Given the description of an element on the screen output the (x, y) to click on. 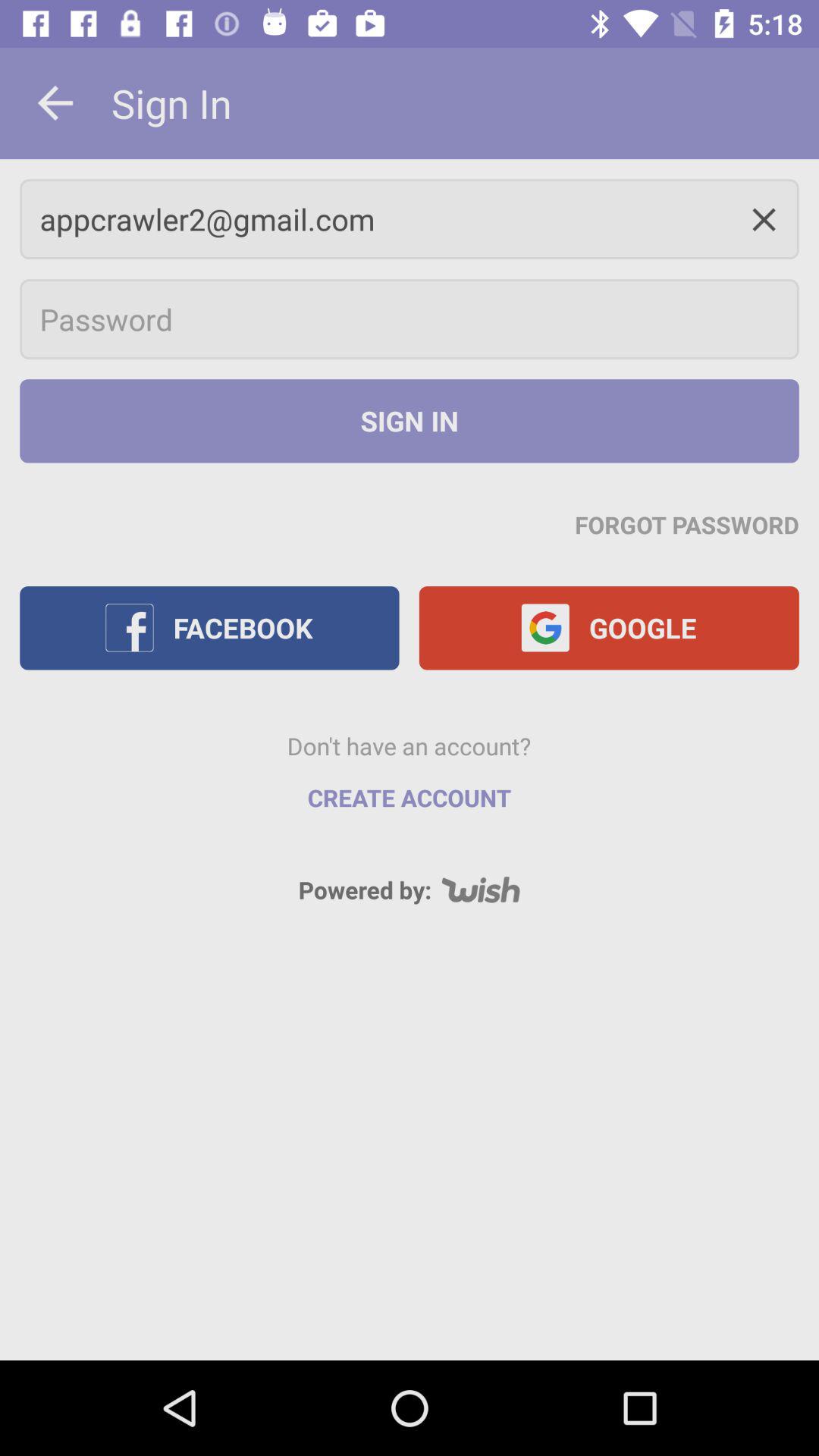
launch the icon next to sign in icon (55, 103)
